Given the description of an element on the screen output the (x, y) to click on. 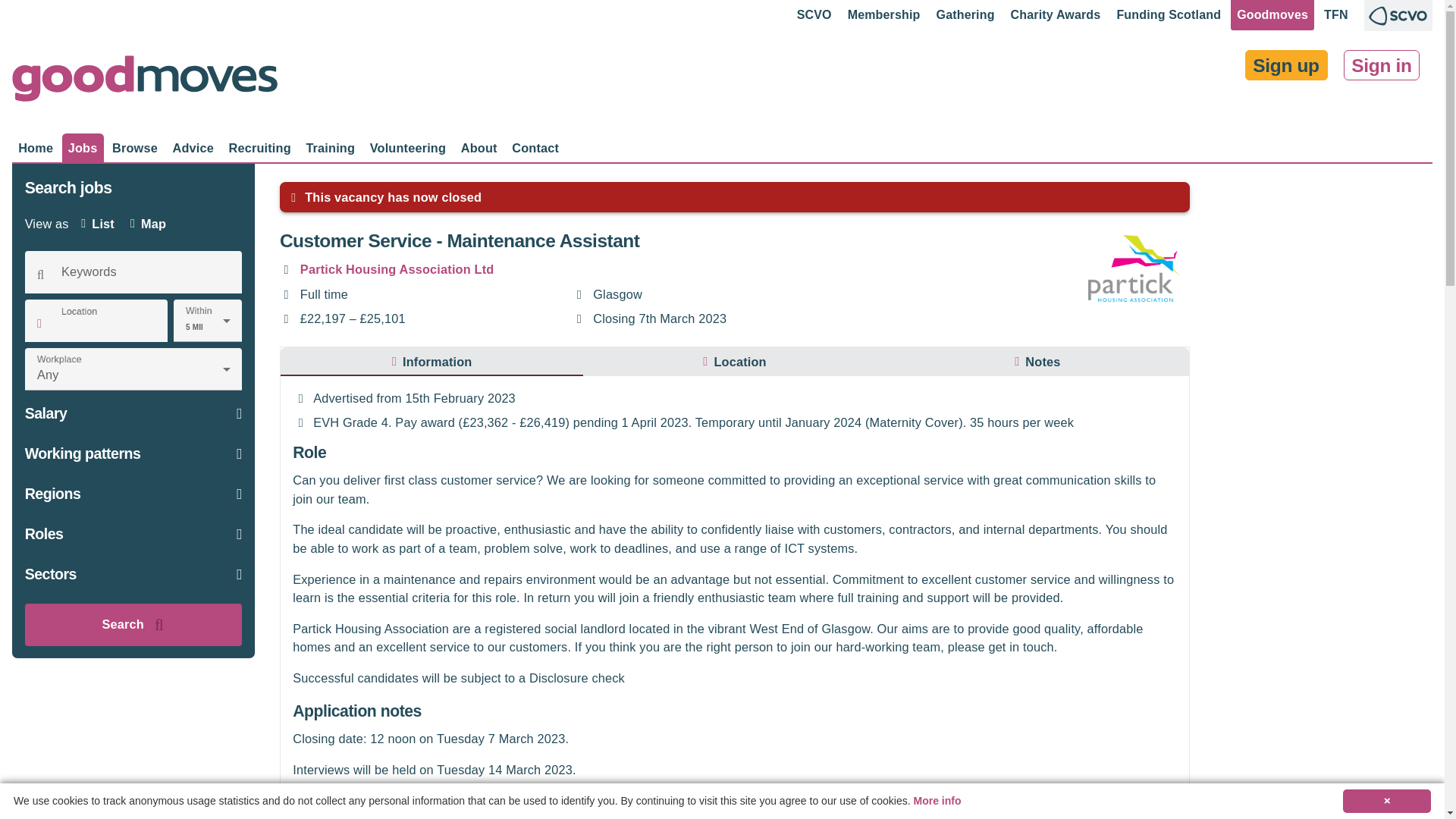
Third Force News (1335, 15)
Goodmoves (144, 81)
Home (35, 147)
Sign in (1382, 64)
SCVO (813, 15)
Map (148, 223)
Recruiting (260, 147)
TFN (1335, 15)
Jobs (82, 147)
Volunteering (408, 147)
Start date (735, 361)
Contact (301, 398)
